Given the description of an element on the screen output the (x, y) to click on. 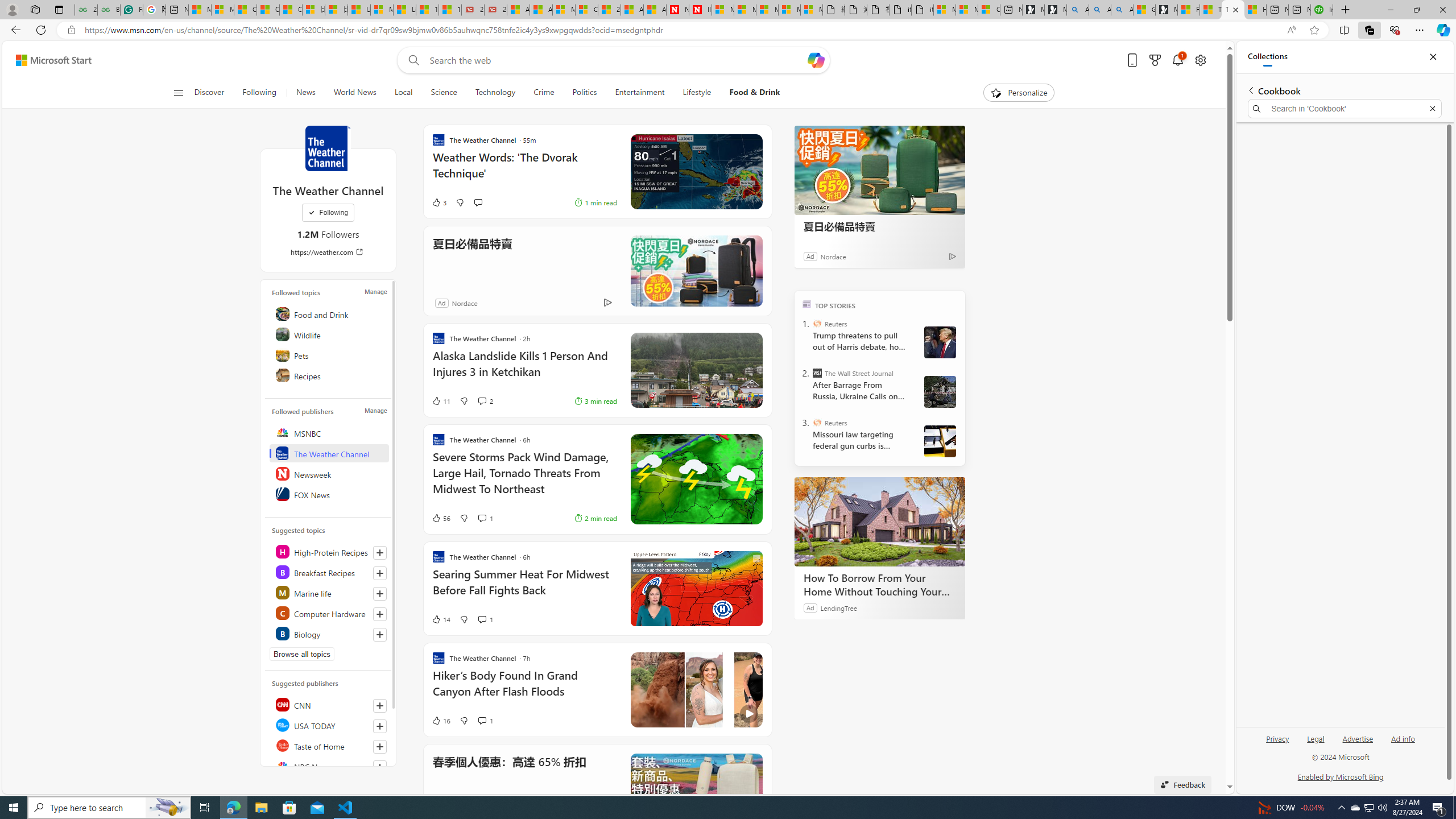
Searing Summer Heat For Midwest Before Fall Fights Back (524, 587)
Back to list of collections (1250, 90)
FOX News (328, 493)
Consumer Health Data Privacy Policy (988, 9)
Class: highlight (328, 633)
20 Ways to Boost Your Protein Intake at Every Meal (609, 9)
